Given the description of an element on the screen output the (x, y) to click on. 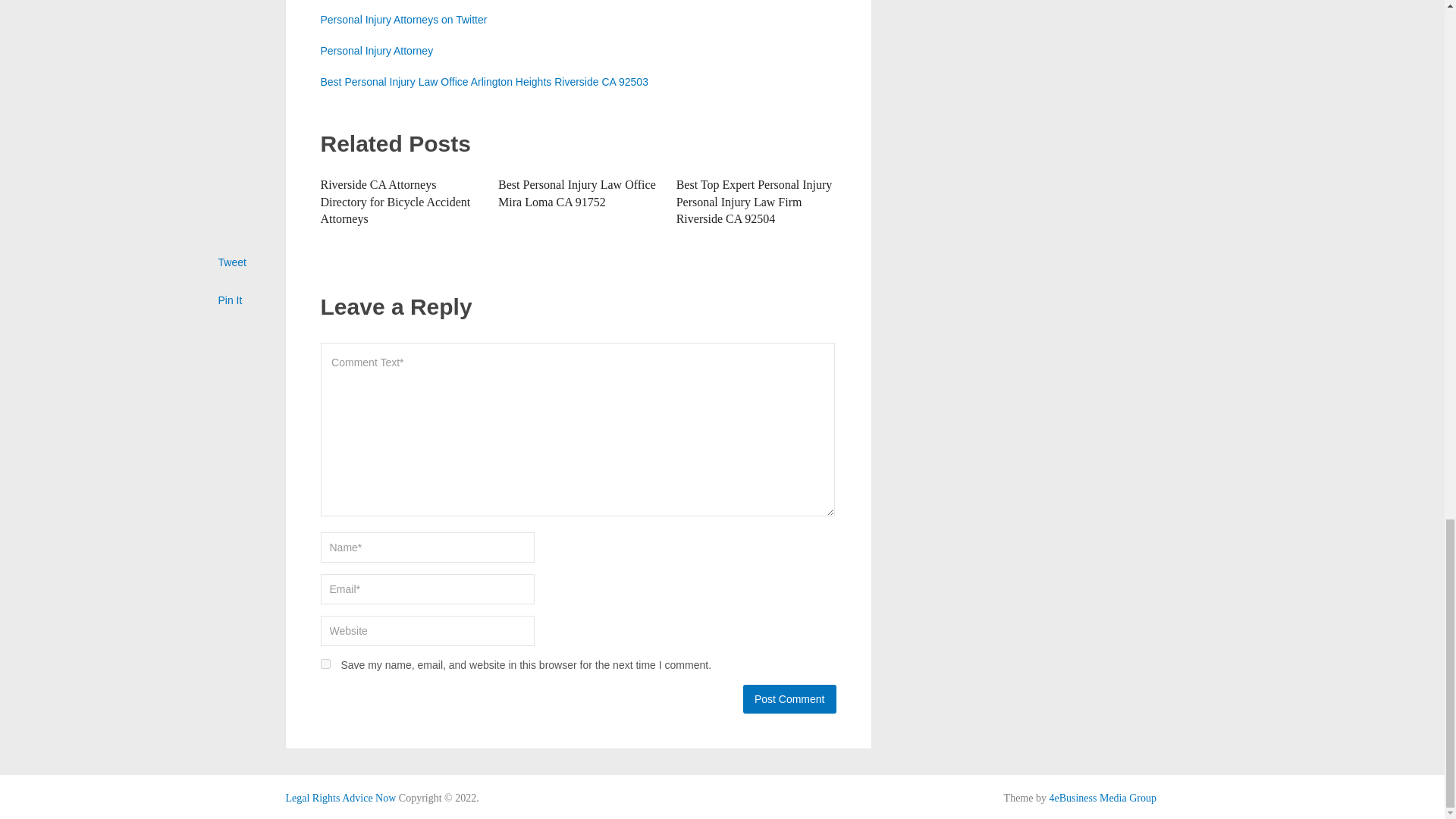
Post Comment (788, 698)
Best Personal Injury Law Office Mira Loma CA 91752 (576, 193)
Personal Injury Attorneys on Twitter (403, 19)
Personal Injury Attorney (376, 50)
Best Personal Injury Law Office Mira Loma CA 91752 (576, 193)
yes (325, 664)
Post Comment (788, 698)
